Given the description of an element on the screen output the (x, y) to click on. 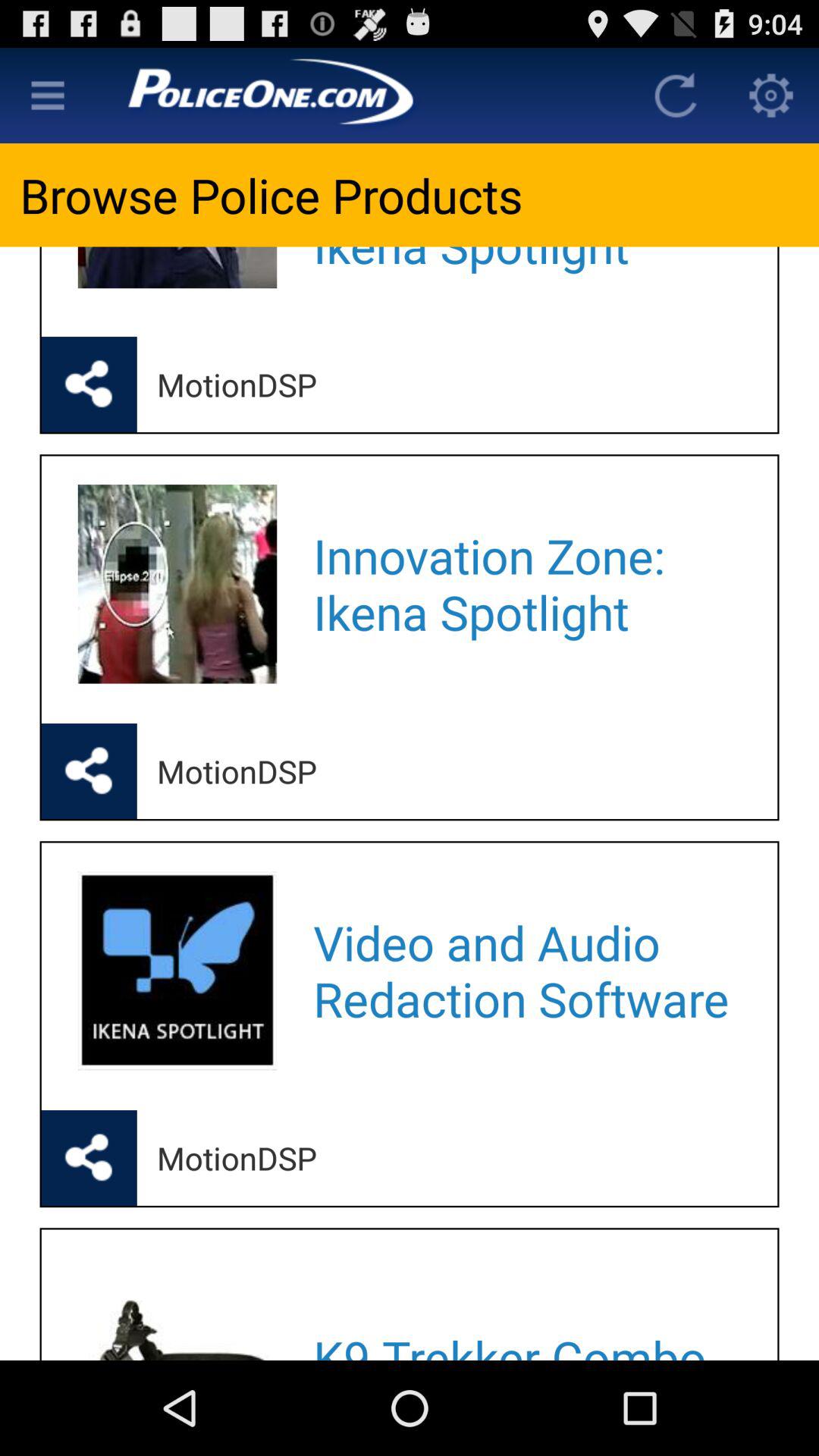
press video and audio app (525, 970)
